Given the description of an element on the screen output the (x, y) to click on. 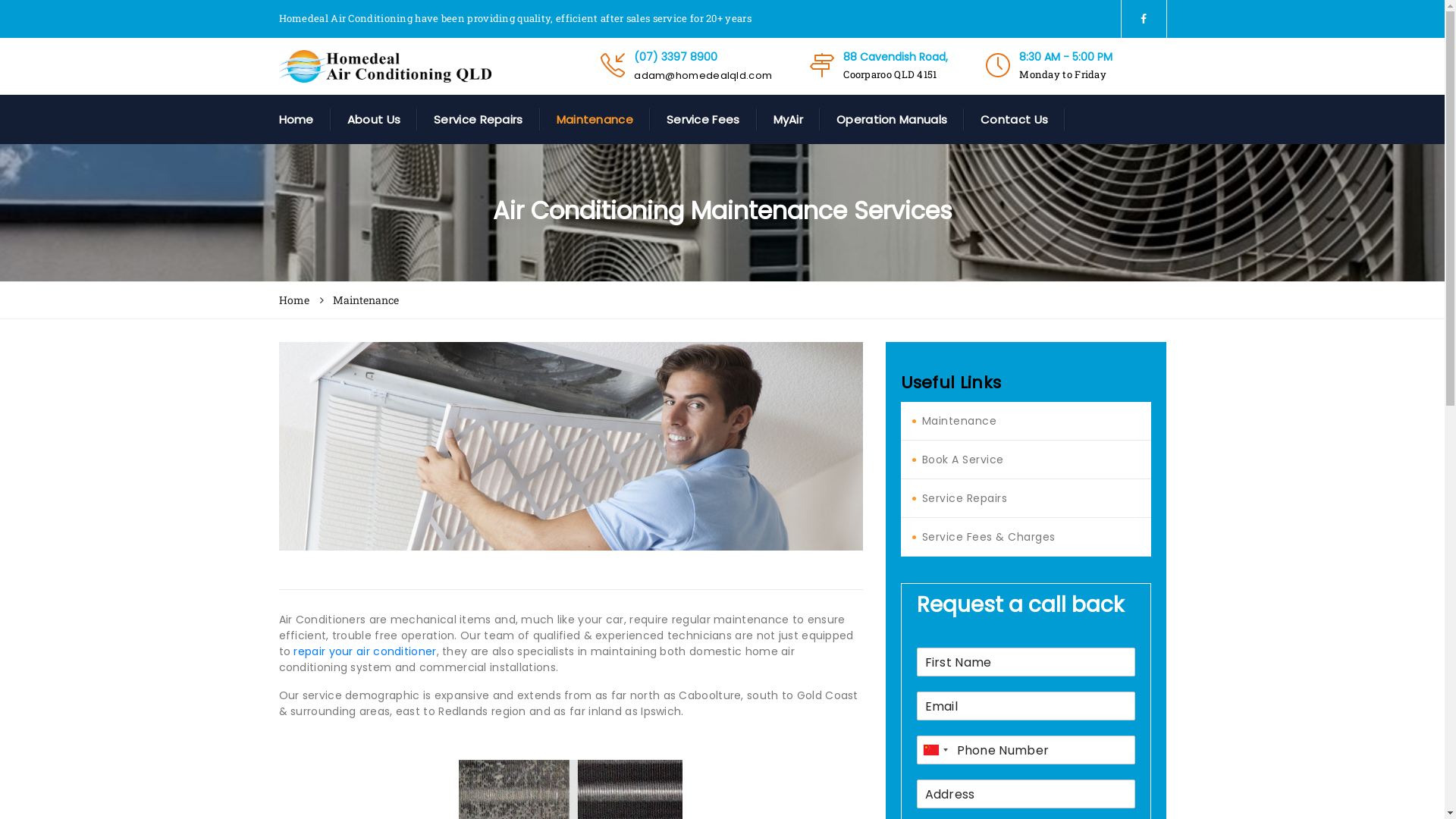
repair your air conditioner Element type: text (364, 650)
Service Fees Element type: text (702, 119)
Service Repairs Element type: text (478, 119)
Maintenance Element type: text (594, 119)
Book A Service Element type: text (963, 459)
Contact Us Element type: text (1013, 119)
Home Element type: text (294, 299)
aircon-filter-replace-1024x365 Element type: hover (570, 445)
Maintenance Element type: text (959, 420)
(07) 3397 8900 Element type: text (702, 56)
About Us Element type: text (373, 119)
adam@homedealqld.com Element type: text (702, 75)
Operation Manuals Element type: text (891, 119)
Service Repairs Element type: text (964, 497)
MyAir Element type: text (788, 119)
Home Element type: text (304, 119)
Service Fees & Charges Element type: text (988, 536)
